Given the description of an element on the screen output the (x, y) to click on. 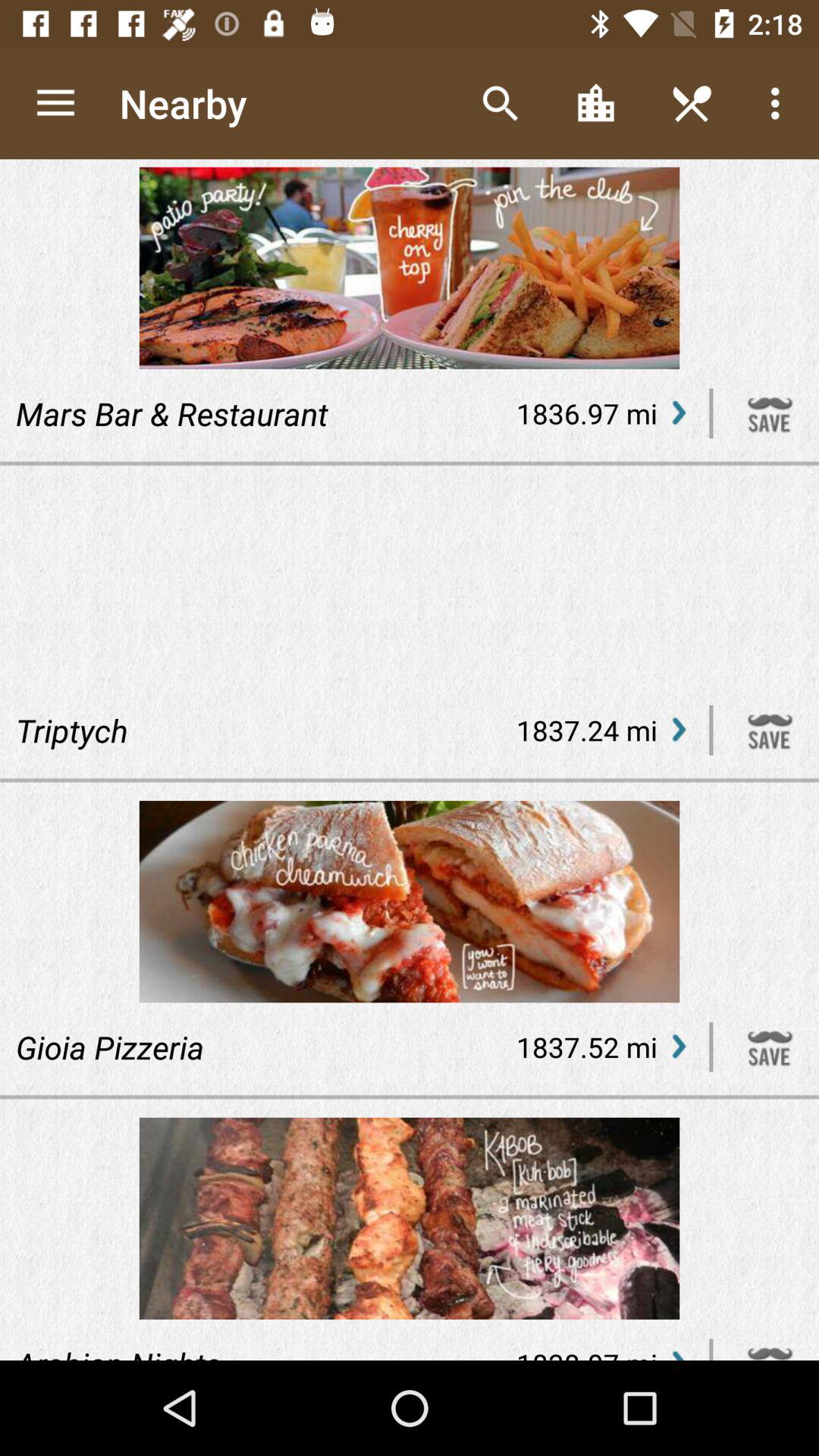
save this for later (770, 1046)
